Given the description of an element on the screen output the (x, y) to click on. 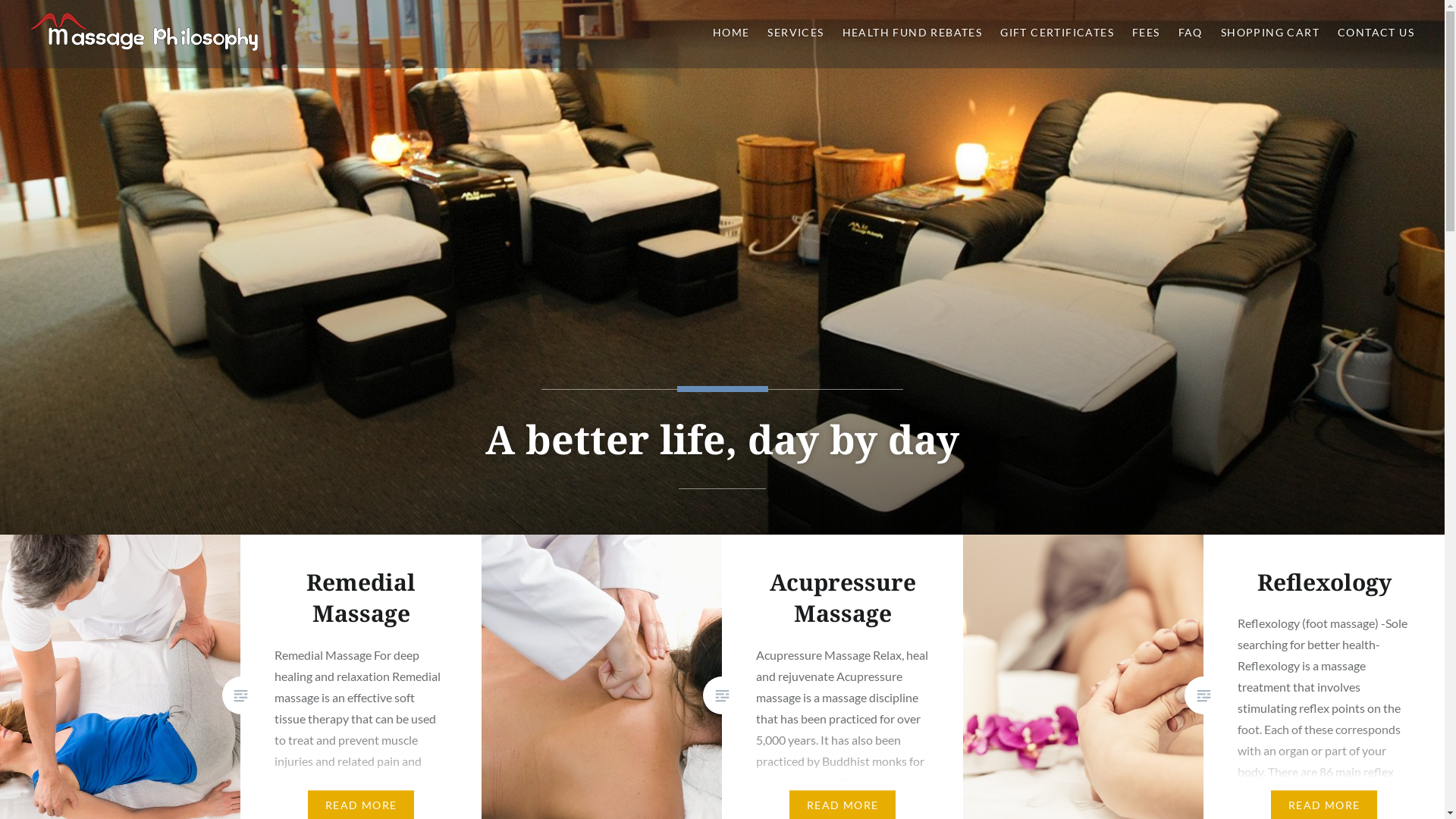
SERVICES Element type: text (795, 32)
GIFT CERTIFICATES Element type: text (1056, 32)
Reflexology Element type: text (1324, 581)
FEES Element type: text (1146, 32)
Search Element type: text (141, 19)
SHOPPING CART Element type: text (1269, 32)
HOME Element type: text (730, 32)
FAQ Element type: text (1190, 32)
Acupressure Massage Element type: text (842, 597)
HEALTH FUND REBATES Element type: text (912, 32)
CONTACT US Element type: text (1375, 32)
Remedial Massage Element type: text (360, 597)
Skip to content Element type: text (0, 0)
